Given the description of an element on the screen output the (x, y) to click on. 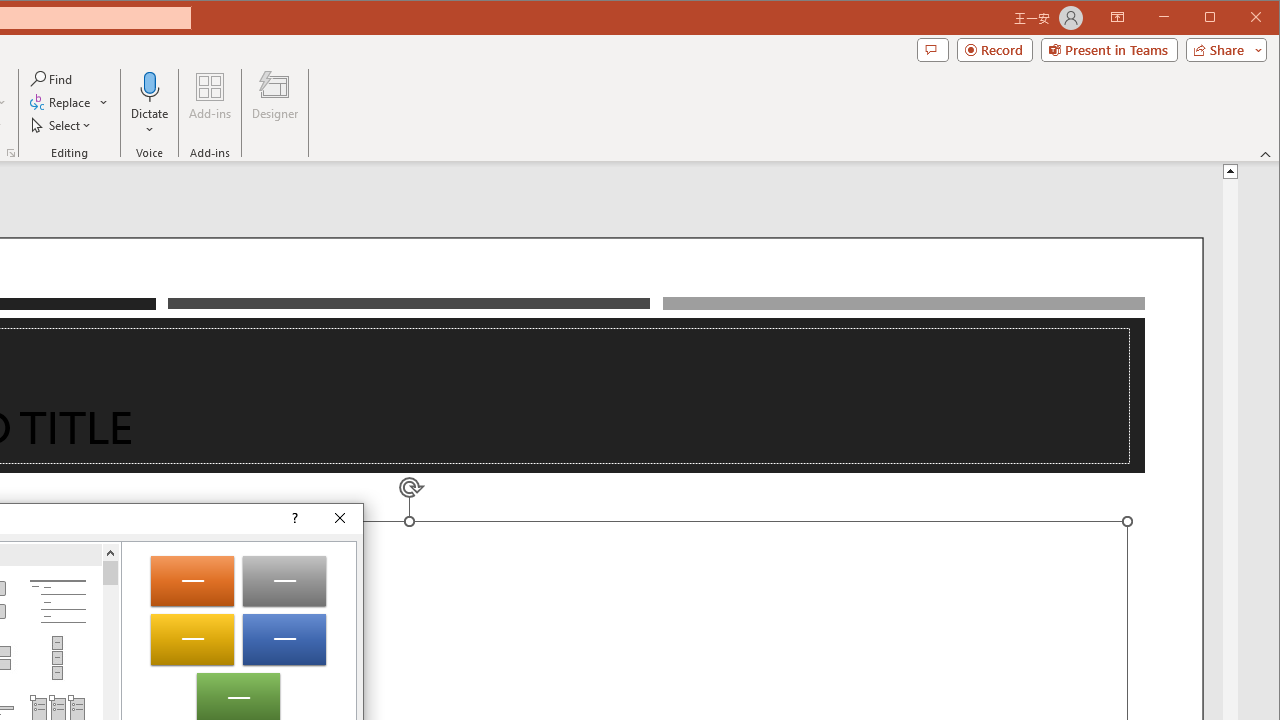
Format Object... (10, 152)
Varying Width List (57, 658)
Find... (52, 78)
Lined List (57, 601)
Dictate (150, 86)
Replace... (69, 101)
Maximize (1238, 18)
Dictate (150, 104)
Designer (274, 104)
